Given the description of an element on the screen output the (x, y) to click on. 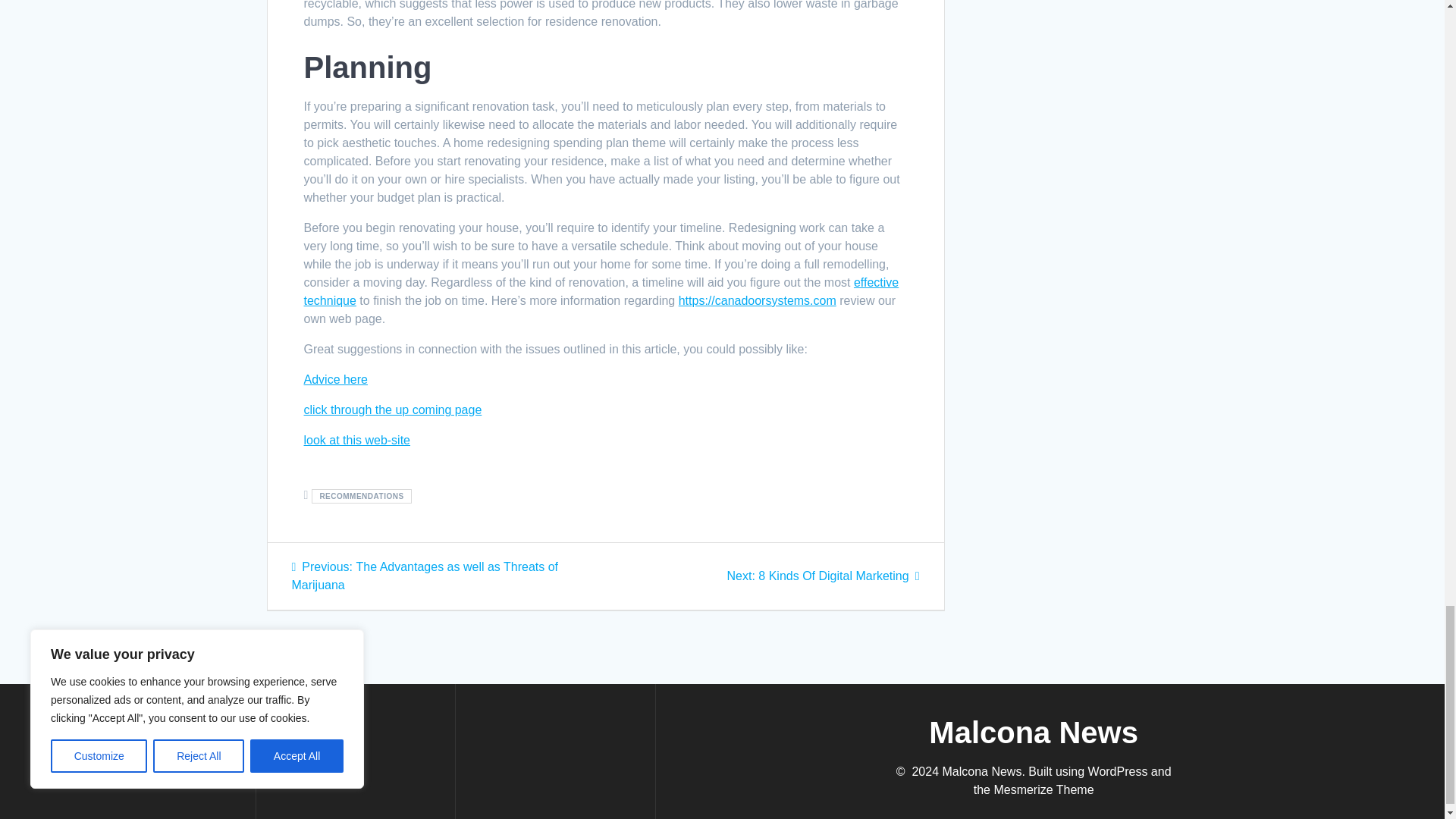
RECOMMENDATIONS (361, 495)
Advice here (335, 379)
look at this web-site (823, 575)
effective technique (356, 440)
click through the up coming page (600, 291)
